Given the description of an element on the screen output the (x, y) to click on. 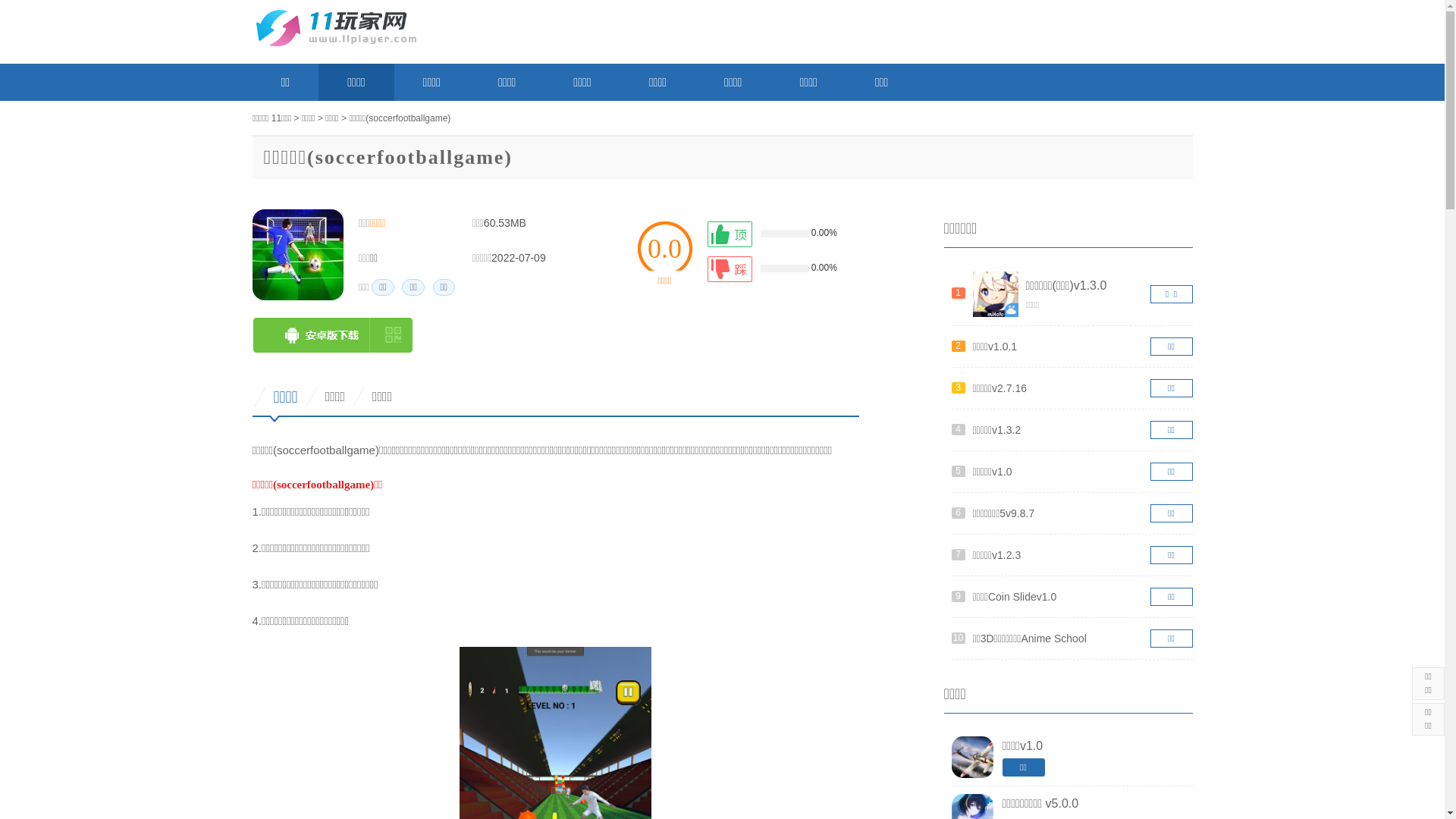
0.00% Element type: text (778, 234)
0.00% Element type: text (778, 269)
